Given the description of an element on the screen output the (x, y) to click on. 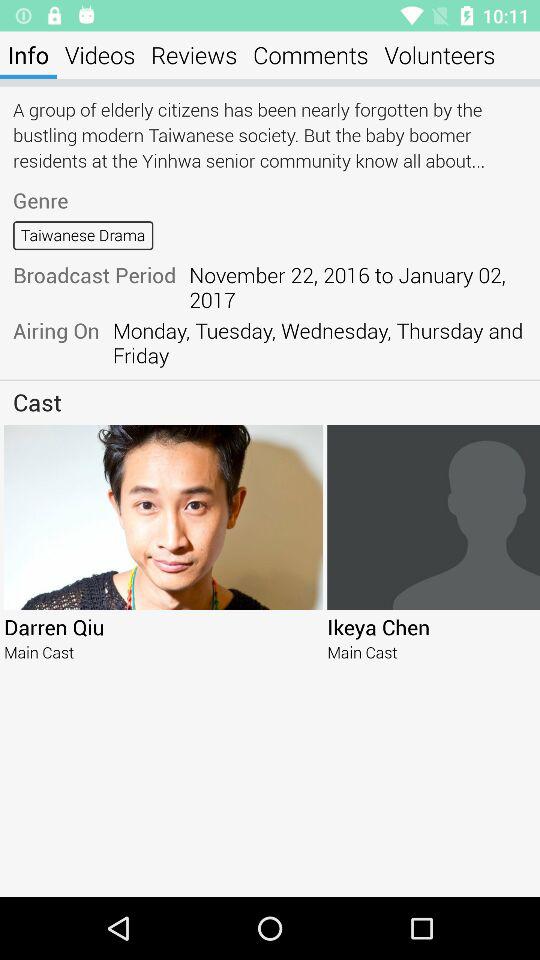
tap item next to the info icon (100, 54)
